Given the description of an element on the screen output the (x, y) to click on. 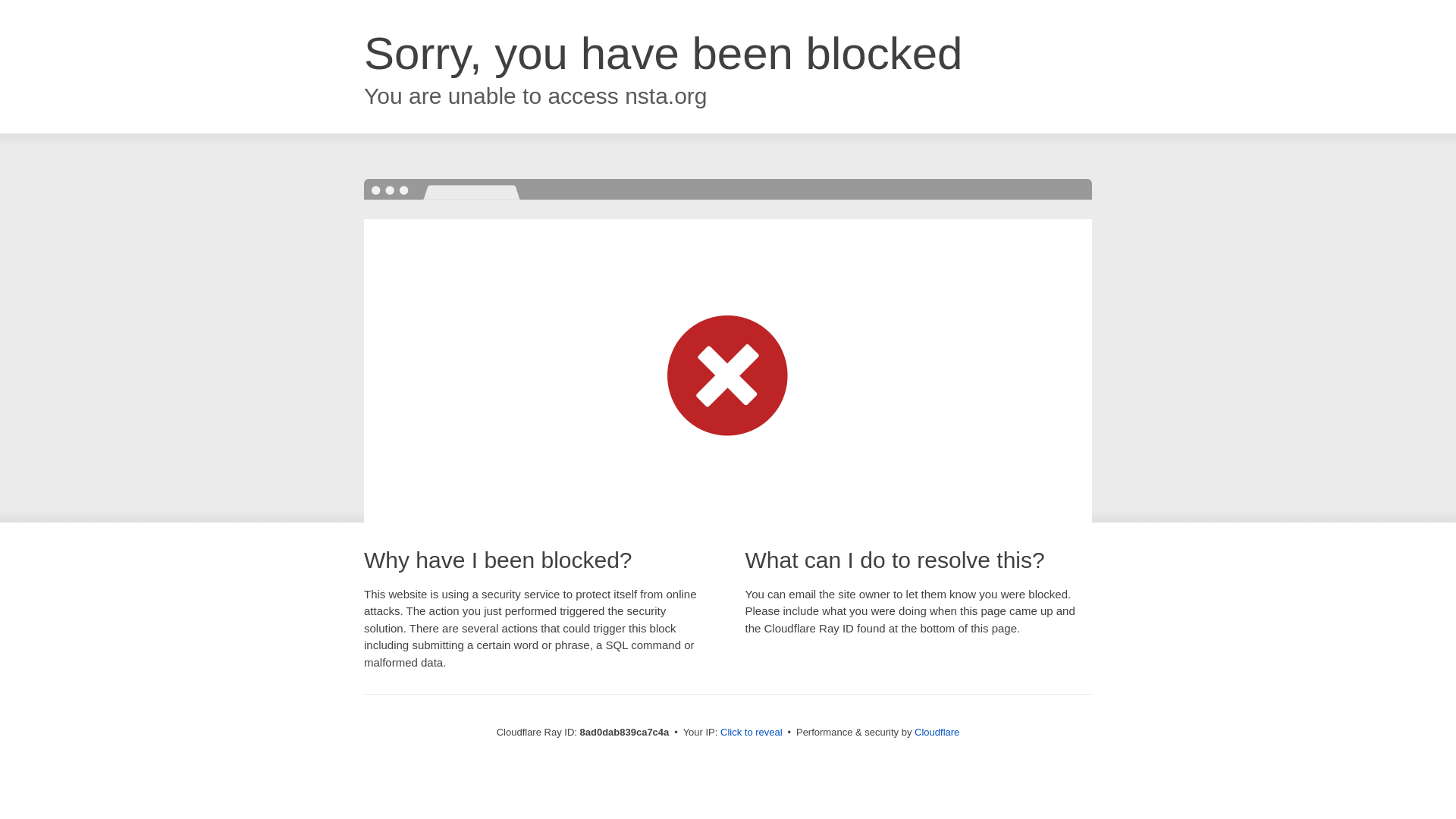
Click to reveal (751, 732)
Cloudflare (936, 731)
